Given the description of an element on the screen output the (x, y) to click on. 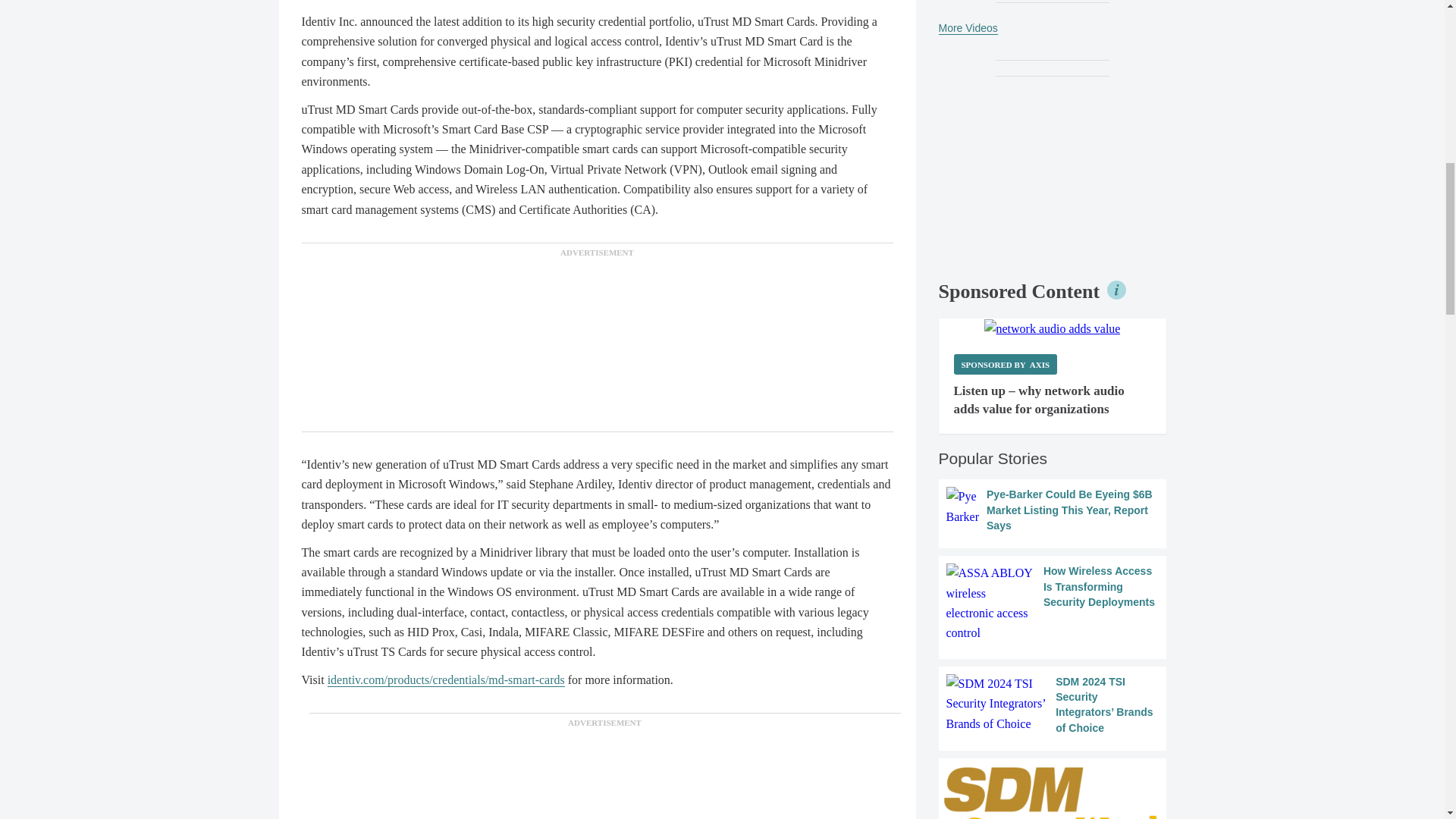
How Wireless Access Is Transforming Security Deployments (1052, 603)
Sponsored by Axis  (1005, 363)
Axis Communications (1052, 329)
